Given the description of an element on the screen output the (x, y) to click on. 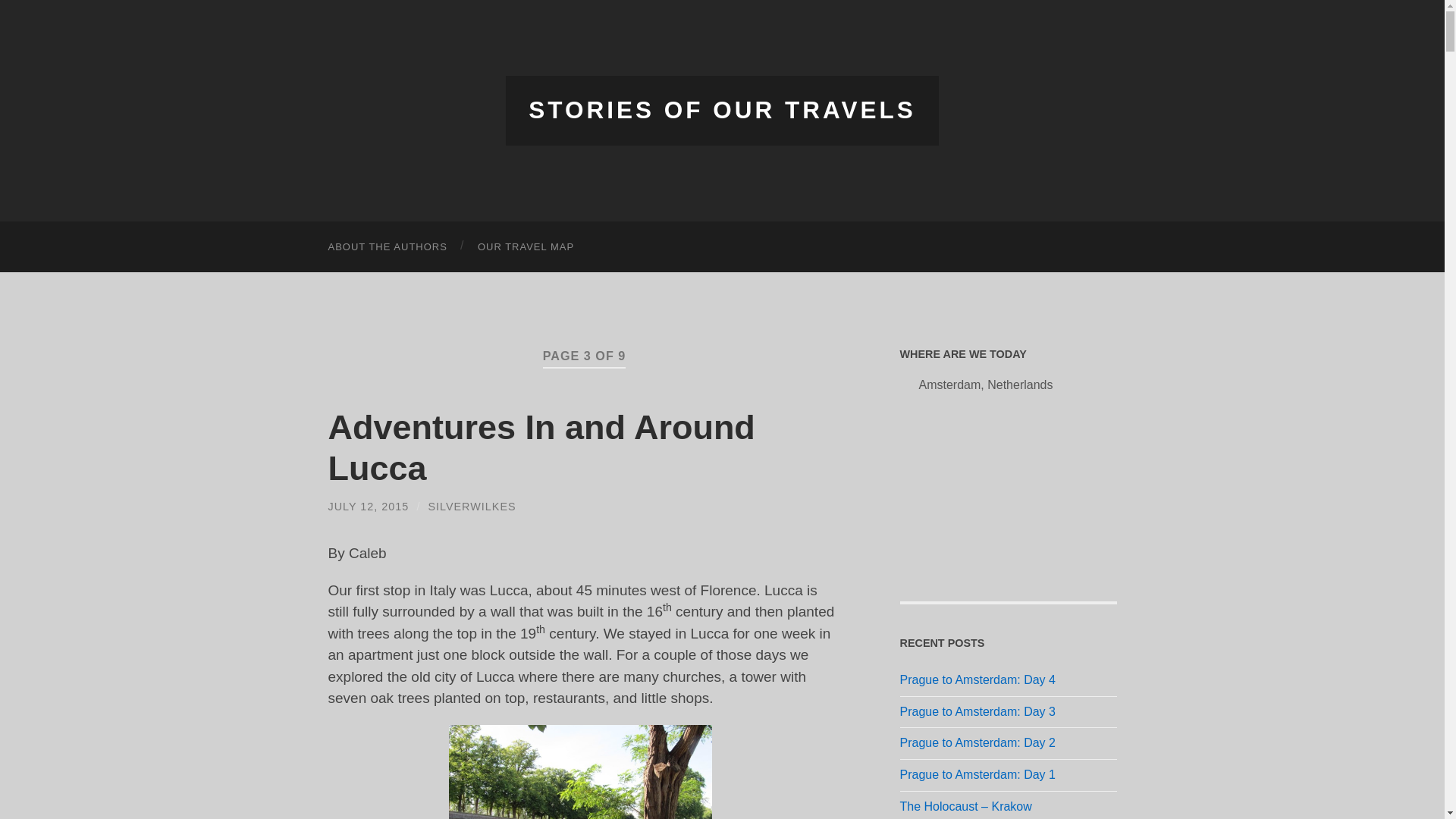
Adventures In and Around Lucca (540, 447)
Posts by silverwilkes (471, 506)
SILVERWILKES (471, 506)
STORIES OF OUR TRAVELS (721, 109)
ABOUT THE AUTHORS (387, 246)
JULY 12, 2015 (368, 506)
OUR TRAVEL MAP (526, 246)
